Given the description of an element on the screen output the (x, y) to click on. 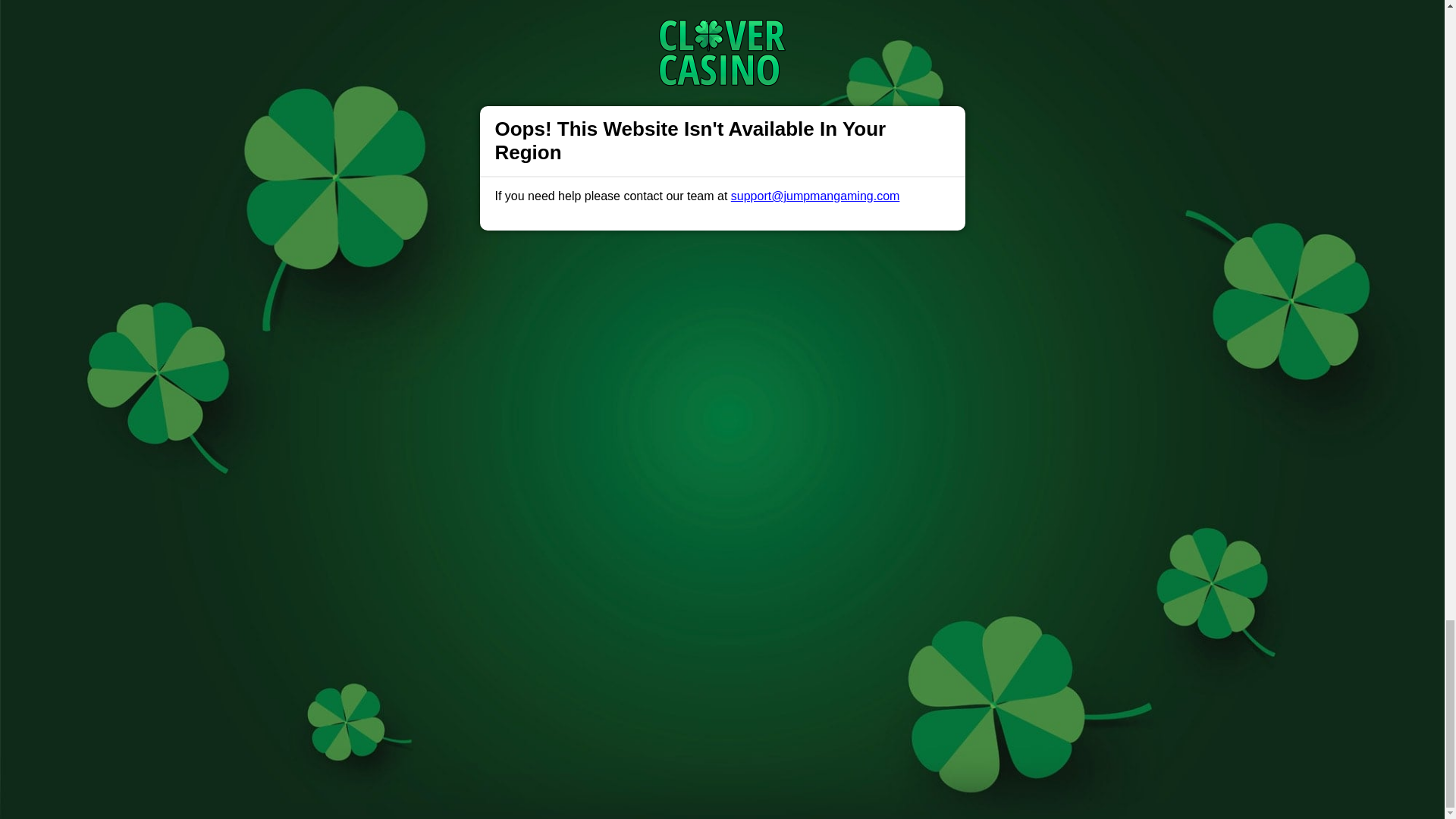
responsible gambling (536, 132)
